Given the description of an element on the screen output the (x, y) to click on. 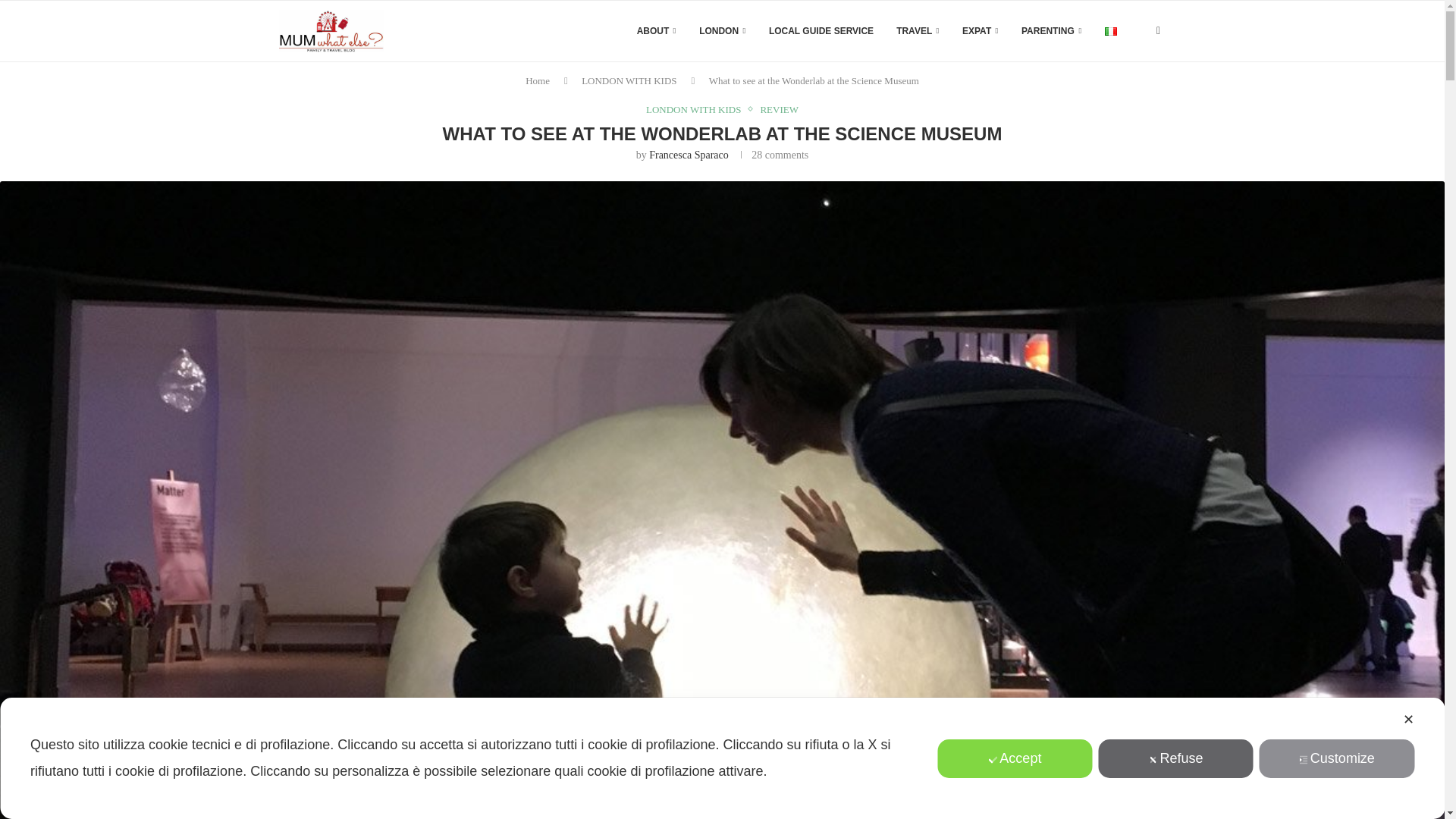
PARENTING (1051, 30)
LOCAL GUIDE SERVICE (820, 30)
Home (537, 80)
Francesca Sparaco (689, 154)
LONDON WITH KIDS (697, 110)
LONDON WITH KIDS (628, 80)
REVIEW (778, 110)
